Given the description of an element on the screen output the (x, y) to click on. 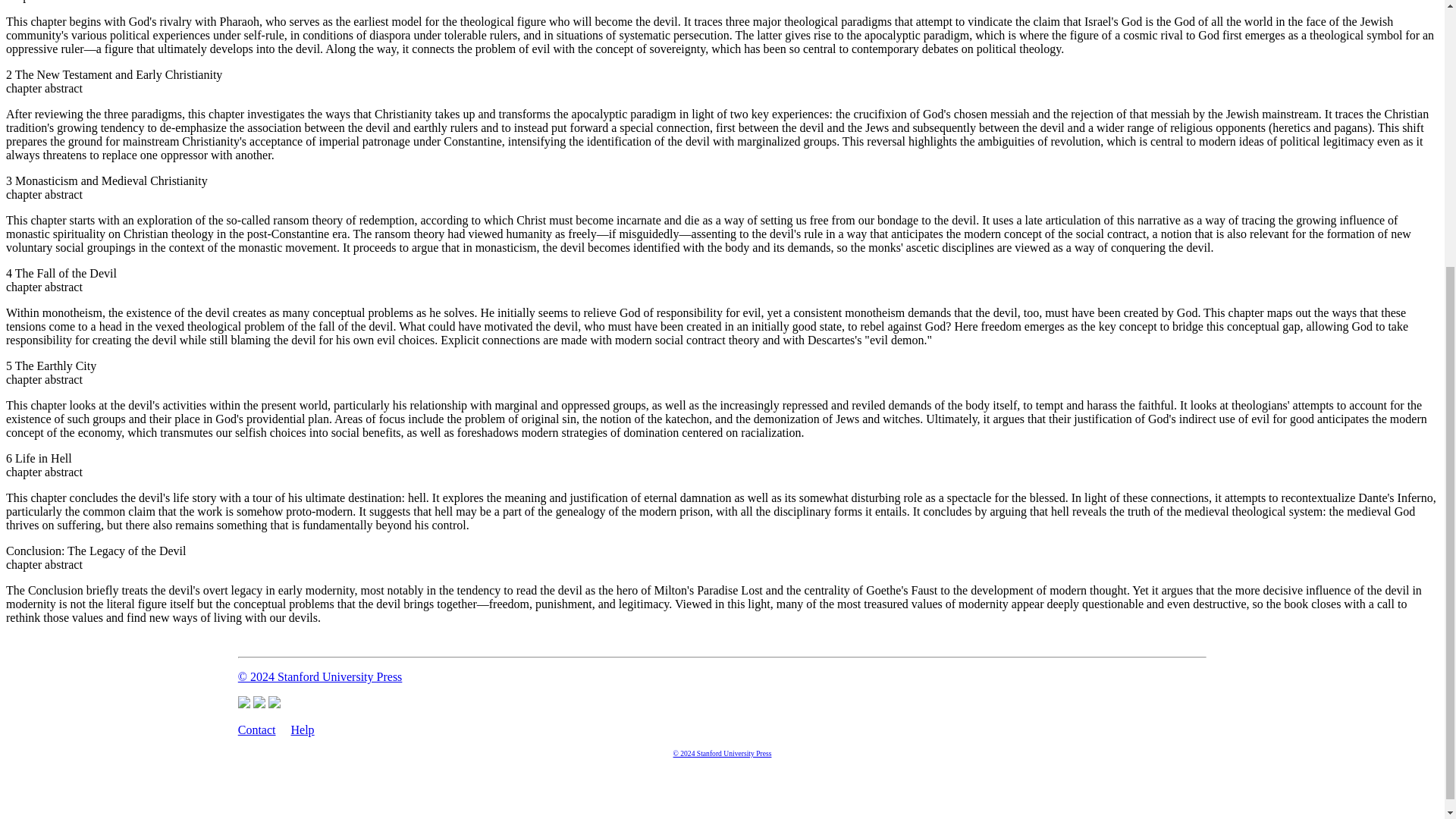
Help (302, 729)
Contact (257, 729)
Read the latest on the 'SUP Blog. (274, 703)
Subscribe to our Instagram feed! (258, 703)
Join the conversation on X. (244, 703)
